Given the description of an element on the screen output the (x, y) to click on. 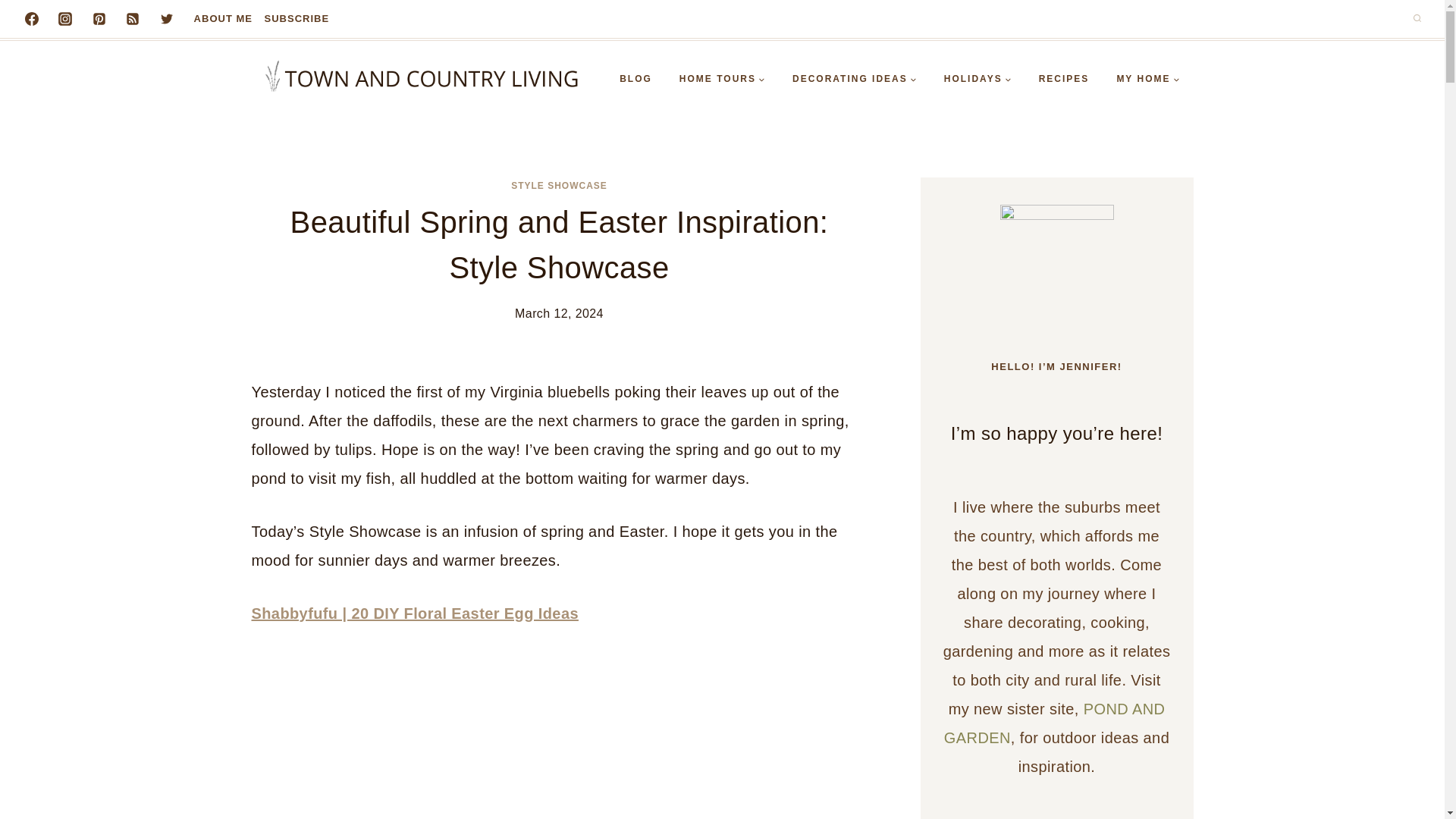
HOME TOURS (721, 79)
HOLIDAYS (977, 79)
BLOG (635, 79)
RECIPES (1064, 79)
ABOUT ME (223, 19)
MY HOME (1147, 79)
SUBSCRIBE (296, 19)
DECORATING IDEAS (854, 79)
